Given the description of an element on the screen output the (x, y) to click on. 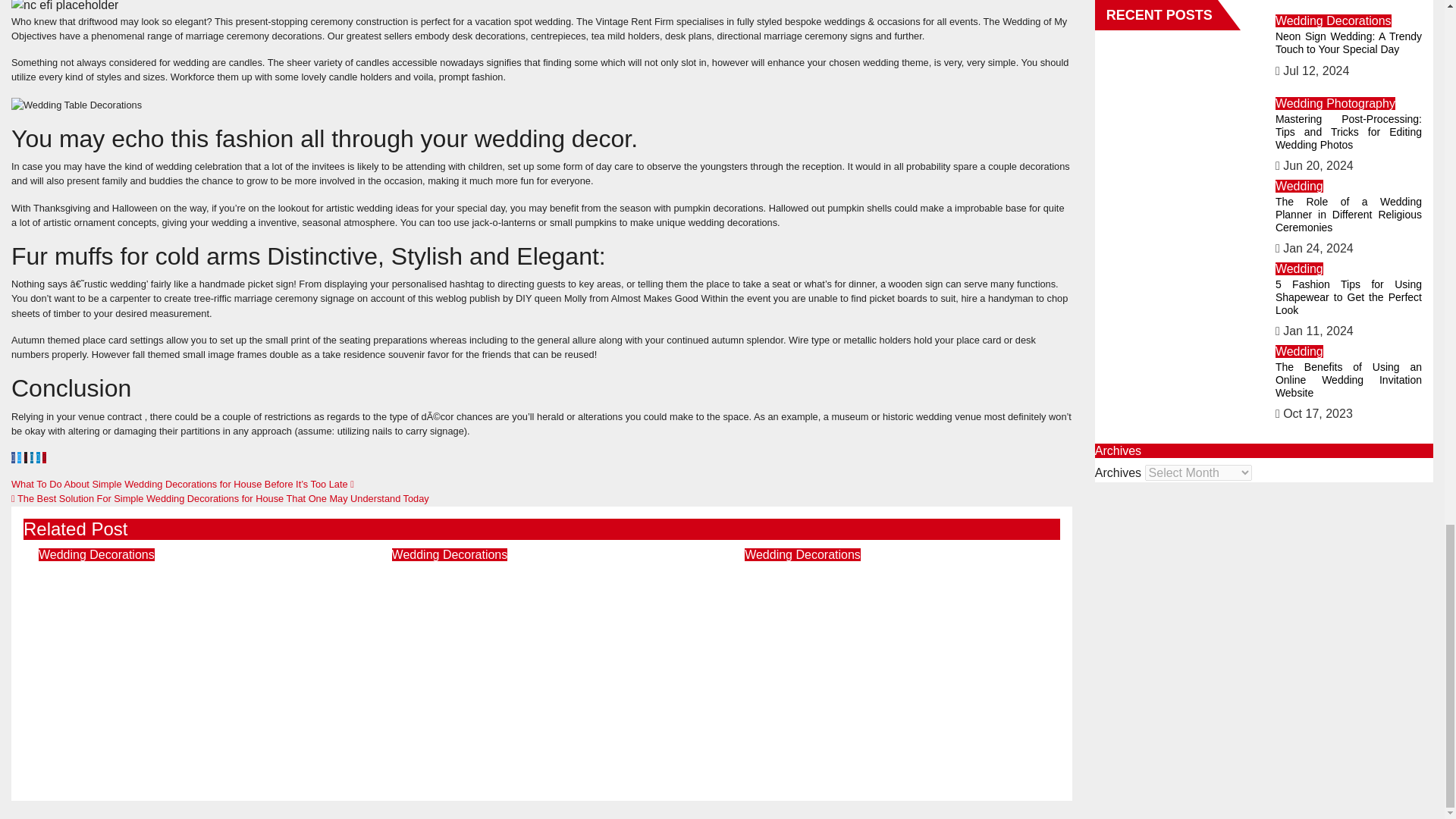
Wedding Decorations (802, 554)
An Unbiased View of Wedding Reception Decor Packages (894, 585)
Wedding Decorations (449, 554)
Wedding Decorations (96, 554)
Neon Sign Wedding: A Trendy Touch to Your Special Day (189, 585)
